Given the description of an element on the screen output the (x, y) to click on. 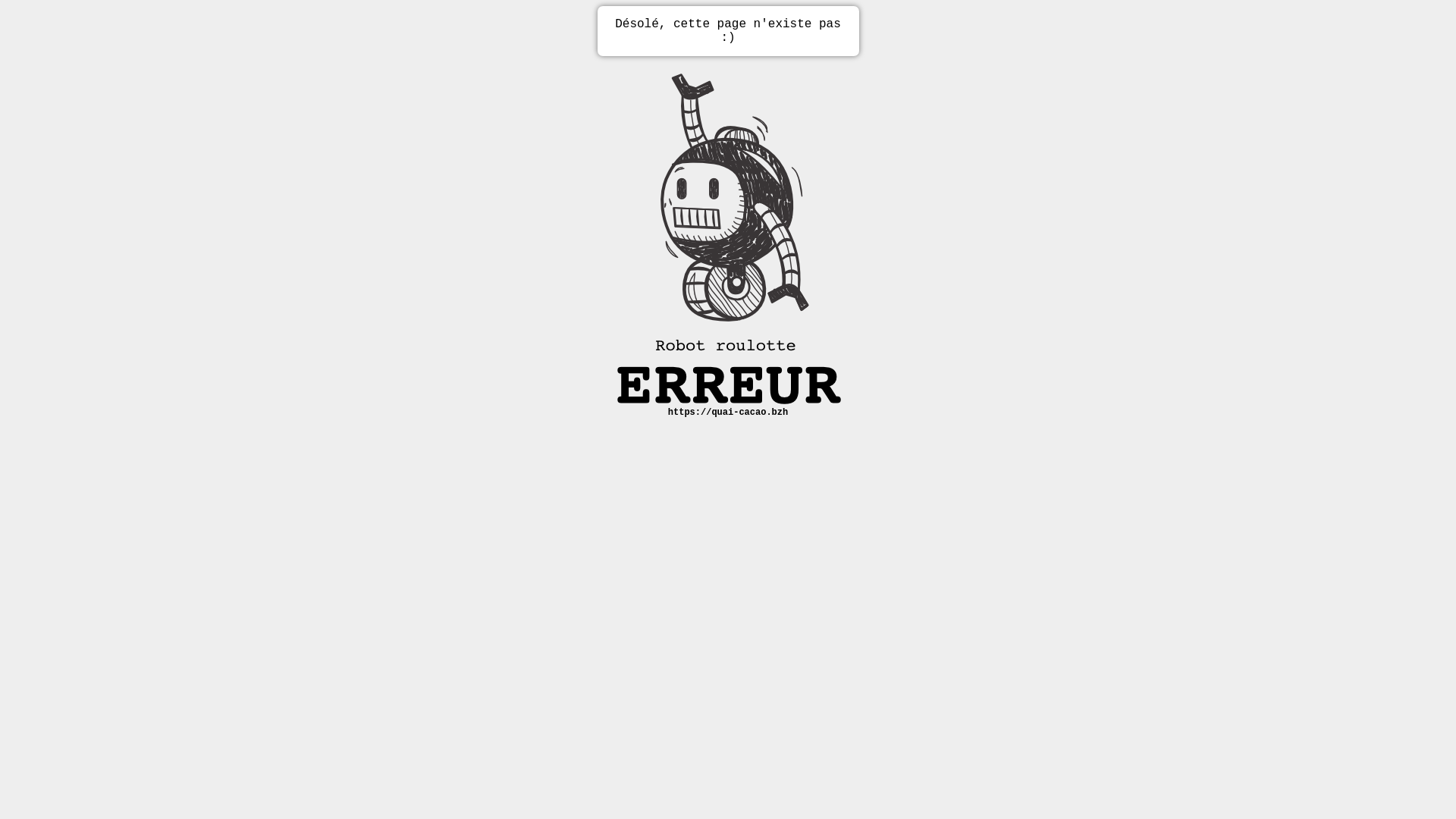
Erreur robot Element type: hover (727, 231)
